Given the description of an element on the screen output the (x, y) to click on. 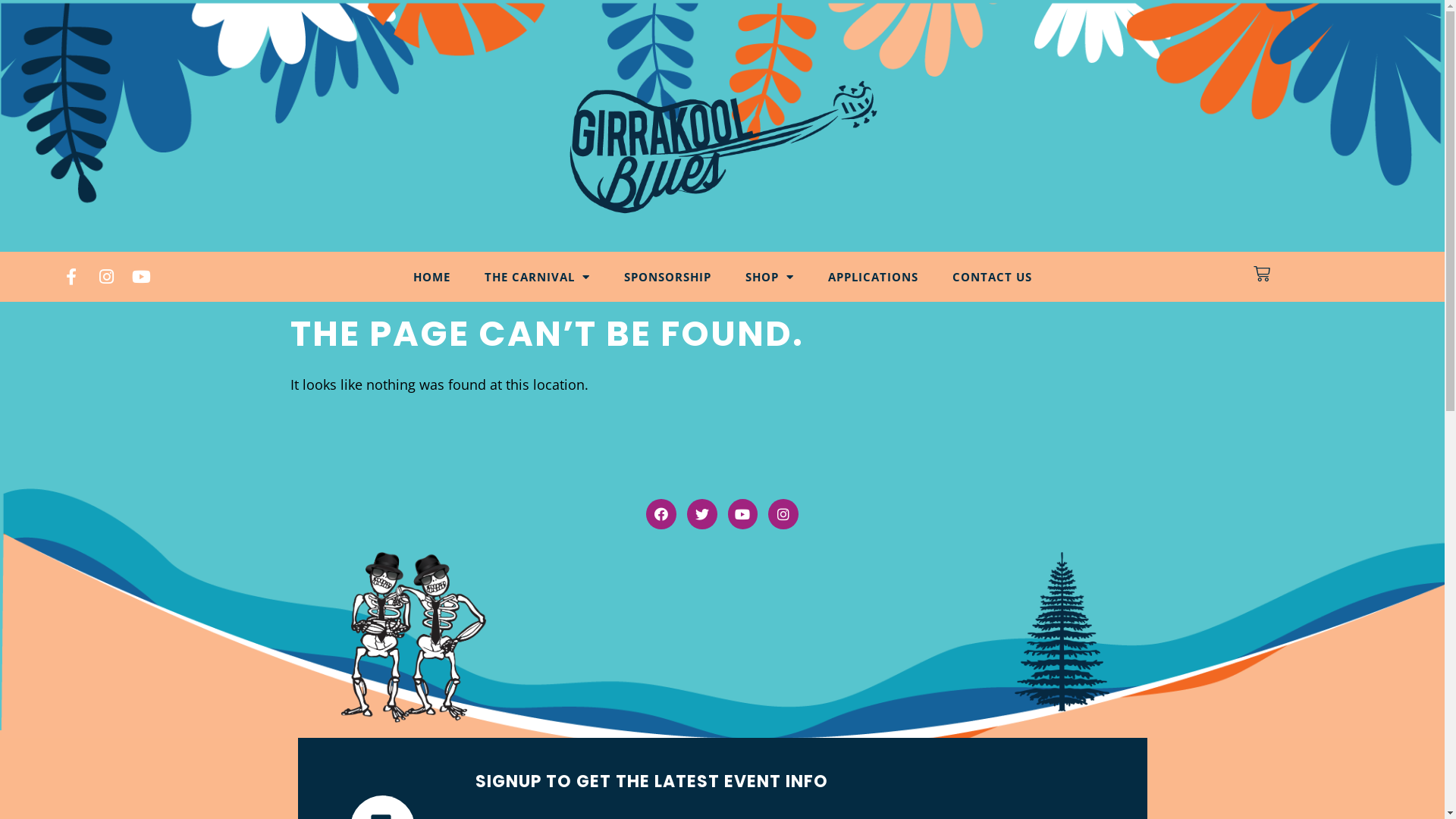
CONTACT US Element type: text (992, 276)
APPLICATIONS Element type: text (873, 276)
HOME Element type: text (430, 276)
SPONSORSHIP Element type: text (666, 276)
SHOP Element type: text (768, 276)
THE CARNIVAL Element type: text (536, 276)
